Given the description of an element on the screen output the (x, y) to click on. 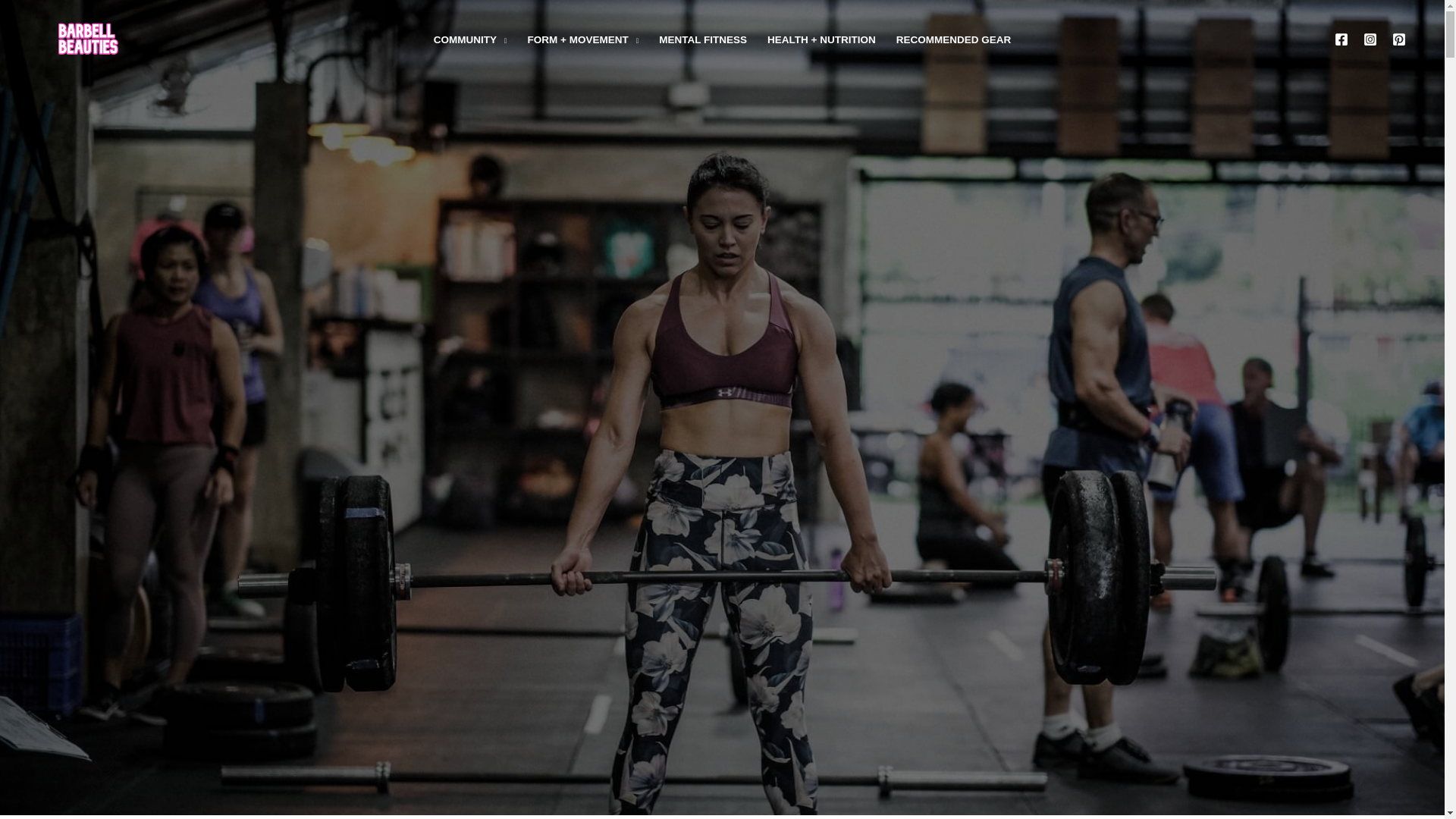
MENTAL FITNESS (703, 40)
RECOMMENDED GEAR (953, 40)
COMMUNITY (469, 40)
